Given the description of an element on the screen output the (x, y) to click on. 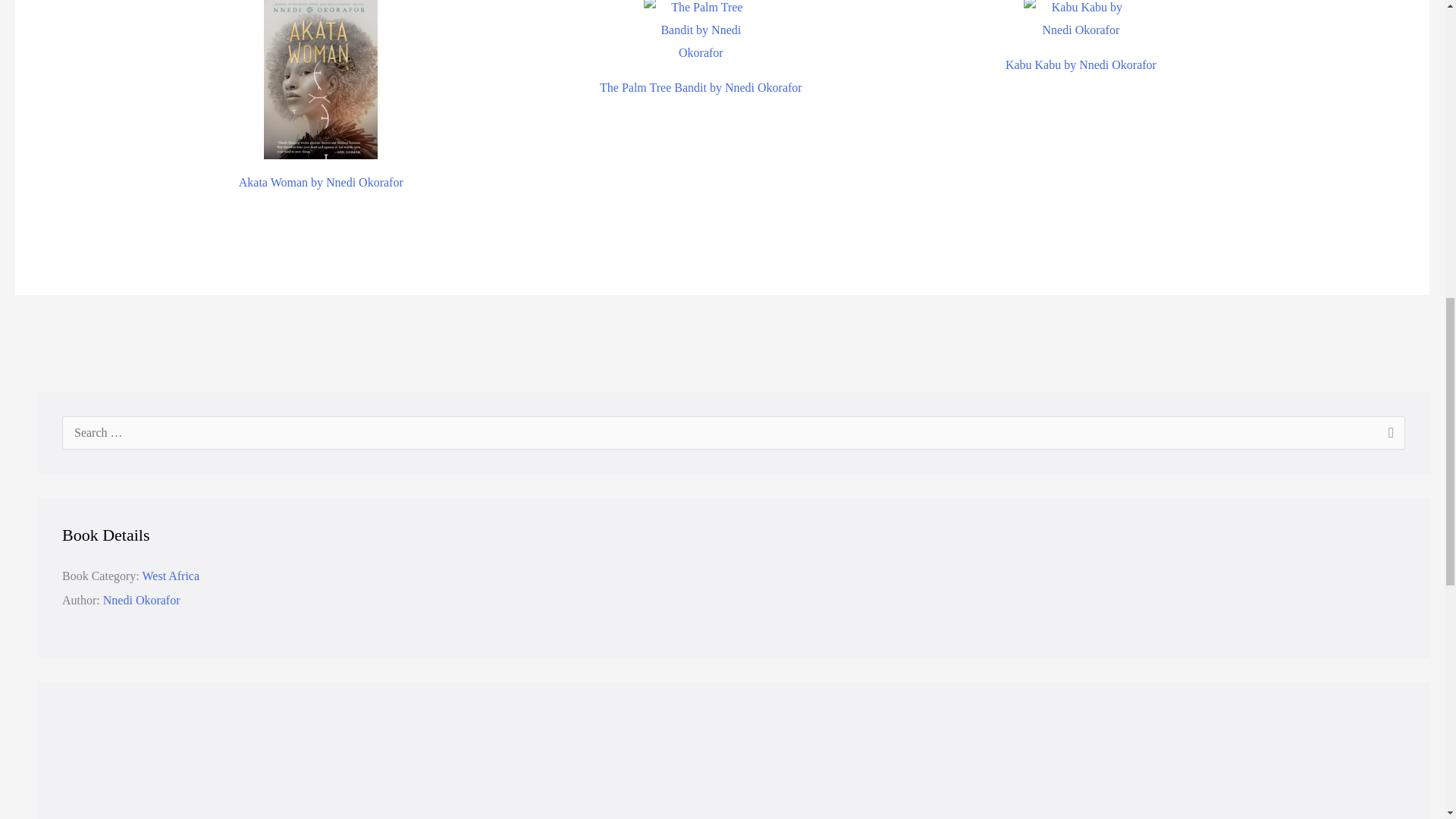
The Palm Tree Bandit by Nnedi Okorafor (700, 61)
Nnedi Okorafor (141, 599)
West Africa (170, 575)
The Palm Tree Bandit by Nnedi Okorafor (700, 61)
Akata Woman by Nnedi Okorafor (320, 132)
Kabu Kabu by Nnedi Okorafor (1081, 44)
Kabu Kabu by Nnedi Okorafor (1081, 44)
Akata Woman by Nnedi Okorafor (320, 132)
